Given the description of an element on the screen output the (x, y) to click on. 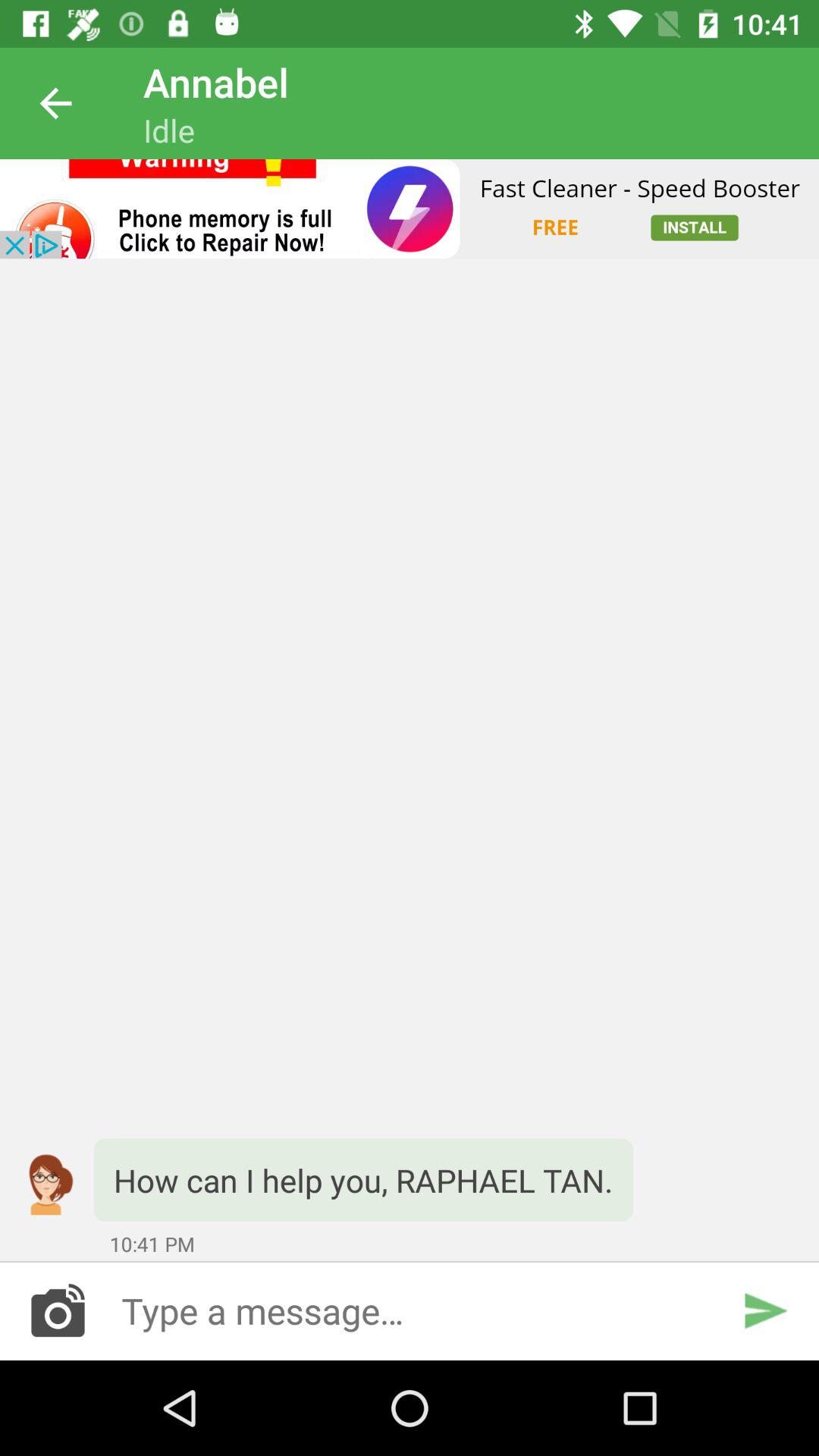
send the message (764, 1310)
